Given the description of an element on the screen output the (x, y) to click on. 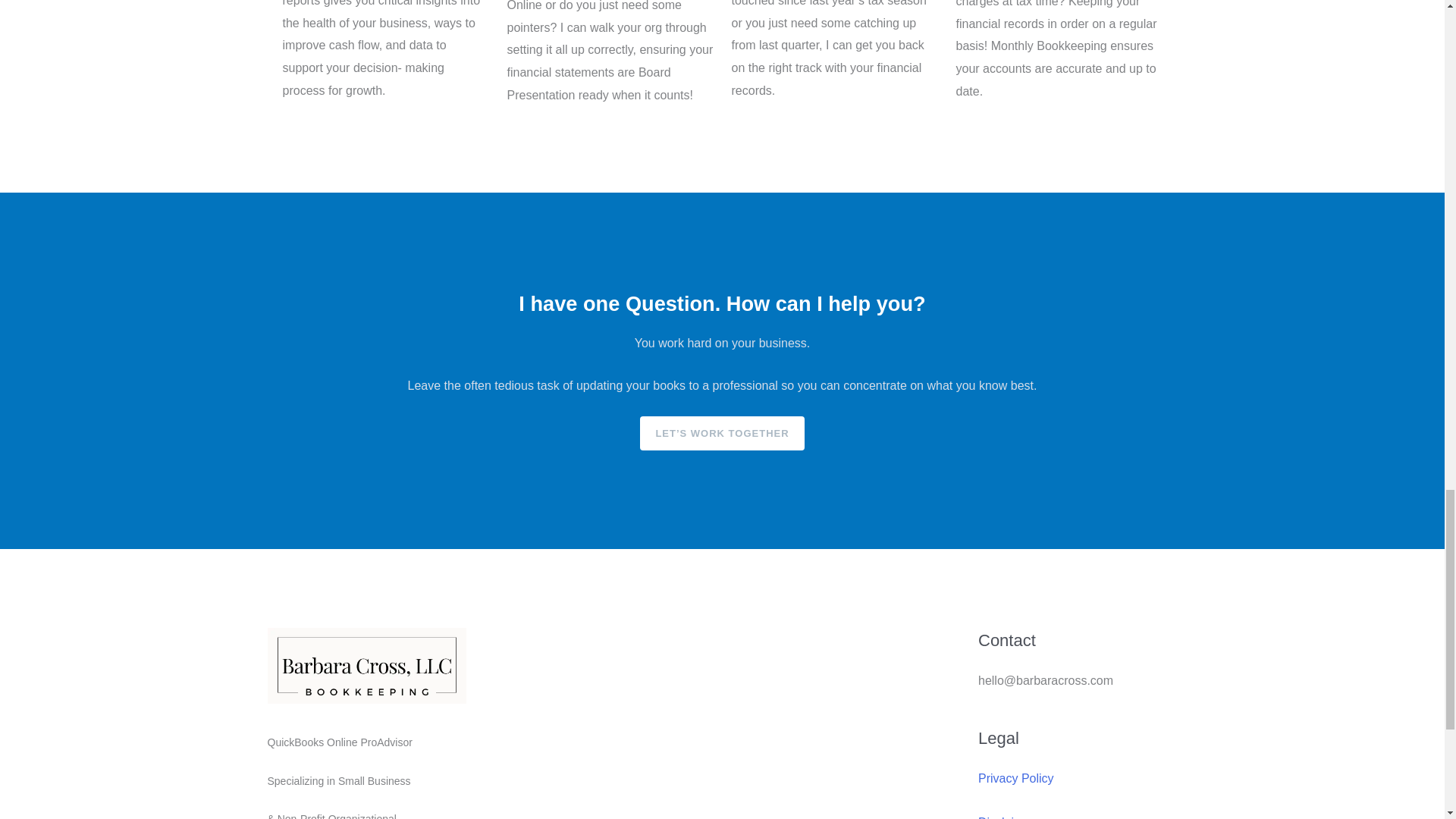
Disclaimer (1006, 817)
Privacy Policy (1016, 778)
